Given the description of an element on the screen output the (x, y) to click on. 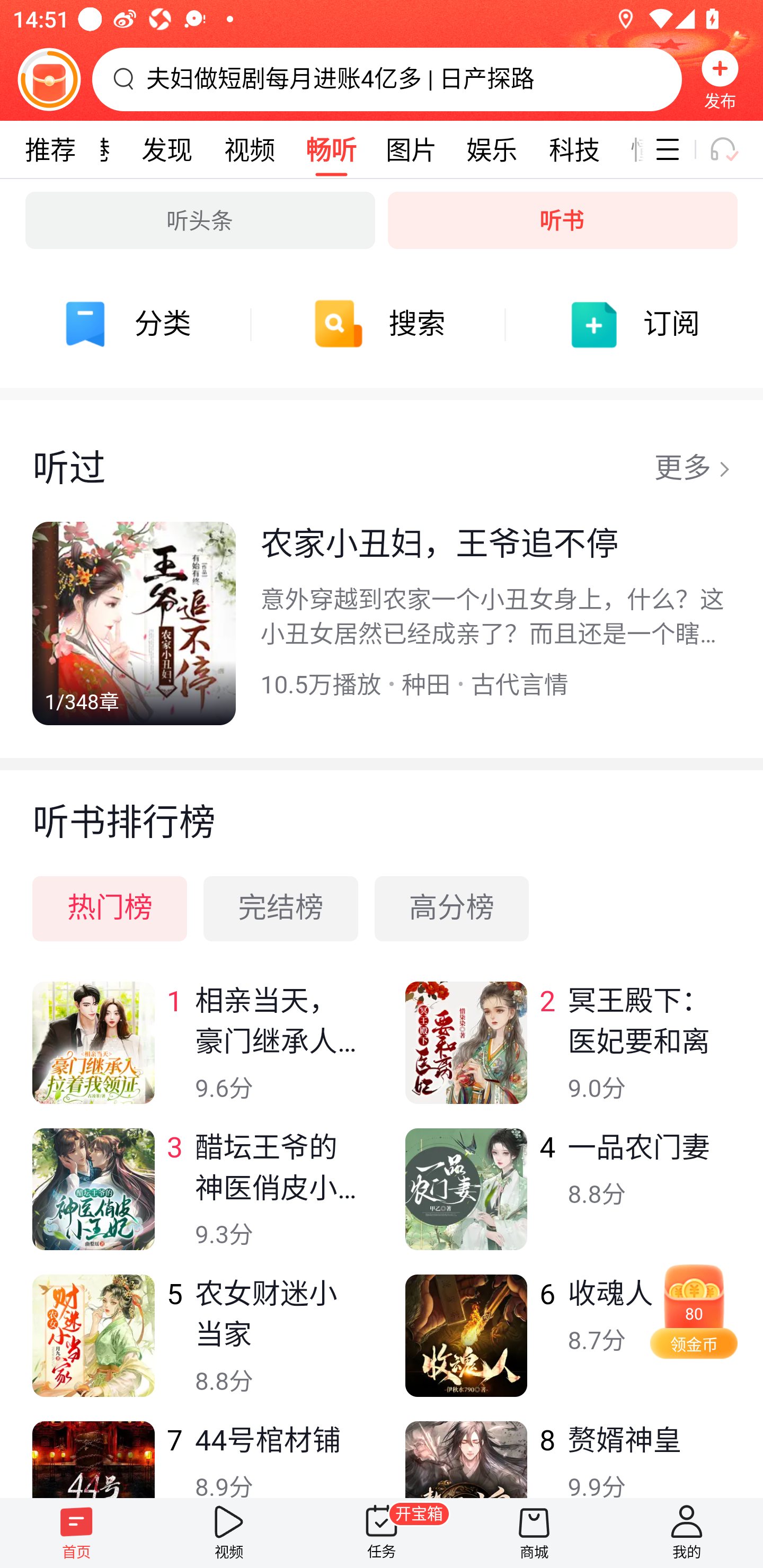
阅读赚金币 (48, 79)
夫妇做短剧每月进账4亿多 | 日产探路 搜索框，夫妇做短剧每月进账4亿多 | 日产探路 (387, 79)
发布 发布，按钮 (720, 78)
推荐 (49, 149)
发现 (166, 149)
视频 (249, 149)
畅听 (331, 149)
图片 (411, 149)
娱乐 (491, 149)
科技 (574, 149)
听一听开关 (732, 149)
听头条 (200, 220)
听书 (562, 220)
ec8ff11ac83e41d92da951de2b550623~tplv-noop 分类 (127, 324)
31232cedd33974649eb46fcb01598aba~tplv-noop 搜索 (381, 324)
4f7d5fecbd4d483872d847870da721d1~tplv-noop 订阅 (635, 324)
更多 (692, 468)
1/348章 (134, 622)
听书排行榜 (381, 806)
热门榜 (109, 908)
完结榜 (280, 908)
高分榜 (451, 908)
1 相亲当天，豪门继承人拉着我领证 9.6 分 (195, 1054)
2 冥王殿下：医妃要和离 9.0 分 (566, 1054)
3 醋坛王爷的神医俏皮小王妃 9.3 分 (195, 1201)
4 一品农门妻 8.8 分 (566, 1201)
5 农女财迷小当家 8.8 分 (195, 1347)
6 收魂人 8.7 分 (566, 1347)
7 44号棺材铺 8.9 分 (195, 1458)
8 赘婿神皇 9.9 分 (566, 1458)
首页 (76, 1532)
视频 (228, 1532)
任务 开宝箱 (381, 1532)
商城 (533, 1532)
我的 (686, 1532)
